Given the description of an element on the screen output the (x, y) to click on. 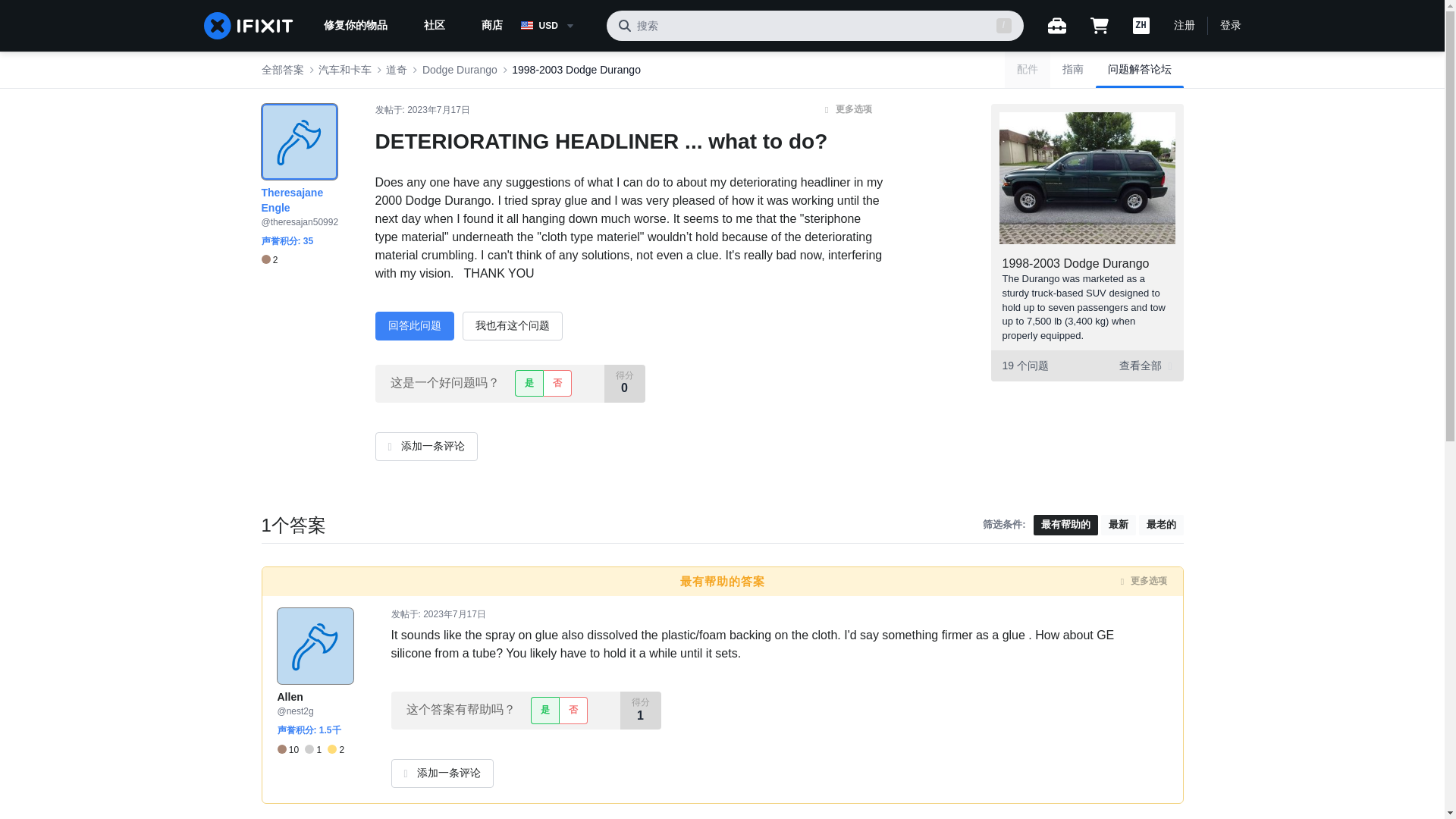
1998-2003 Dodge Durango (1076, 263)
Mon, 17 Jul 2023 16:41:08 -0700 (438, 109)
Mon, 17 Jul 2023 18:10:43 -0700 (454, 614)
Dodge Durango (459, 69)
USD (556, 25)
1998-2003 Dodge Durango (576, 69)
2 (269, 259)
